Given the description of an element on the screen output the (x, y) to click on. 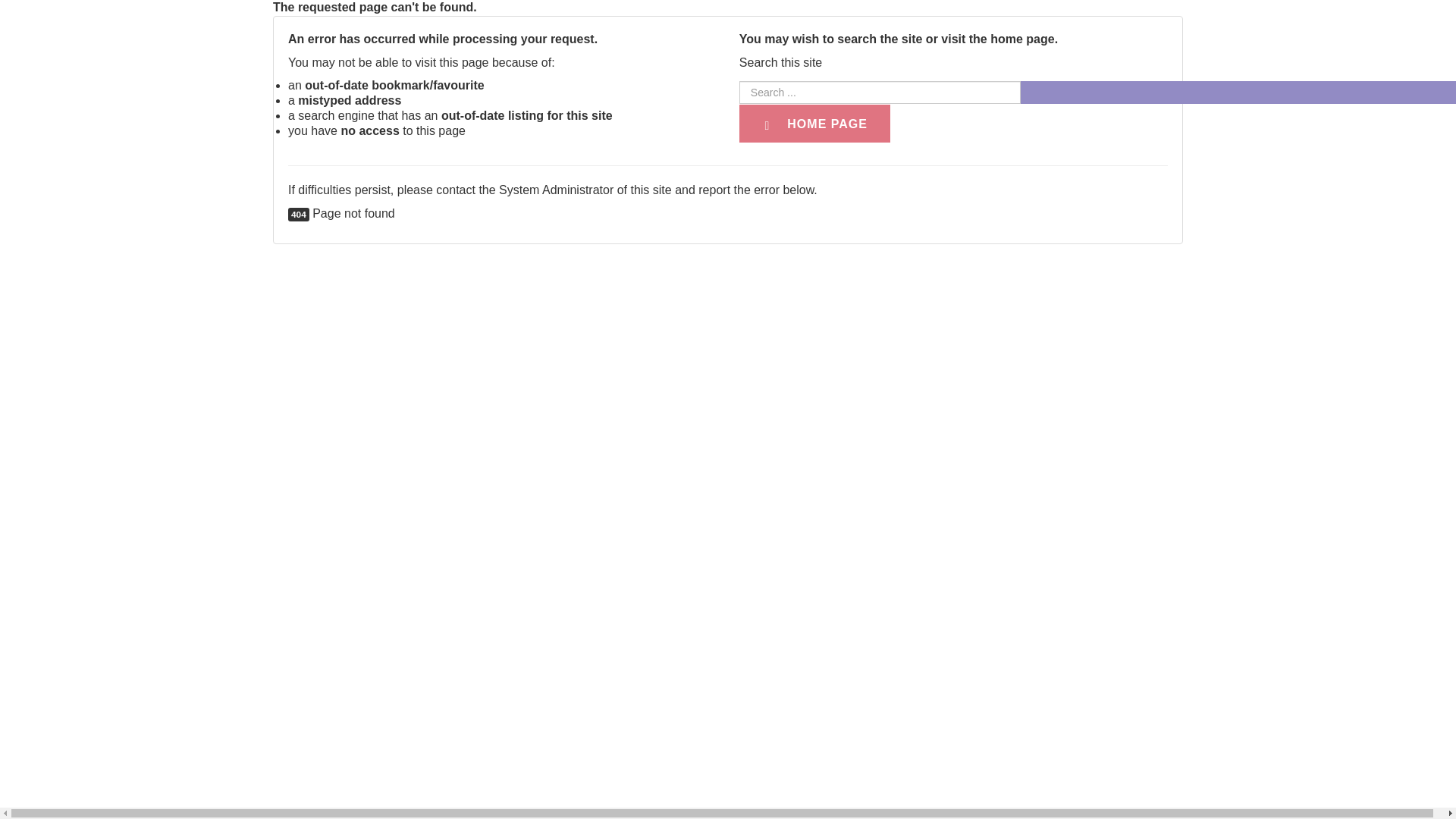
HOME PAGE Element type: text (814, 123)
